Given the description of an element on the screen output the (x, y) to click on. 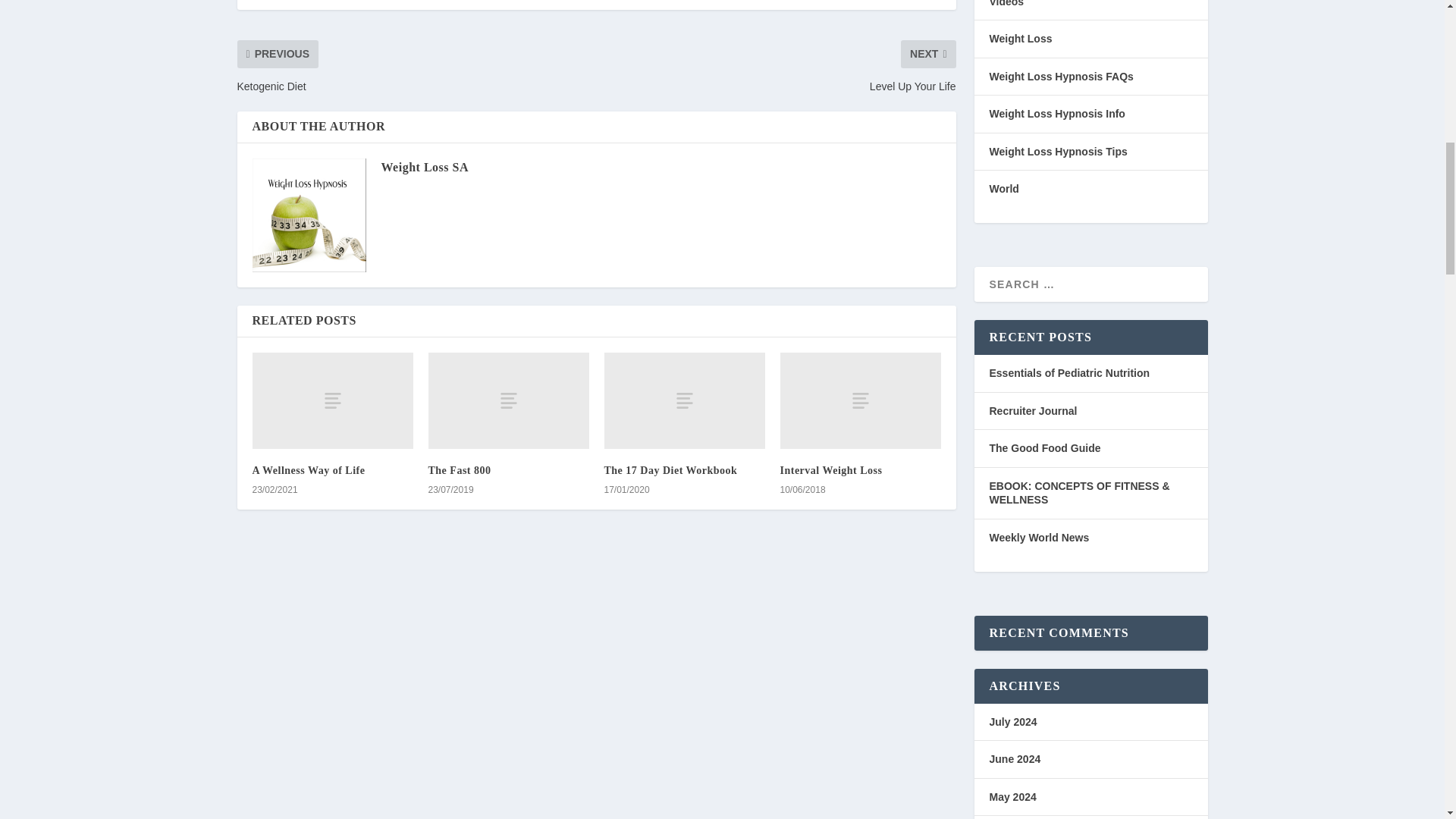
A Wellness Way of Life (331, 400)
View all posts by Weight Loss SA (423, 166)
The Fast 800 (508, 400)
